Given the description of an element on the screen output the (x, y) to click on. 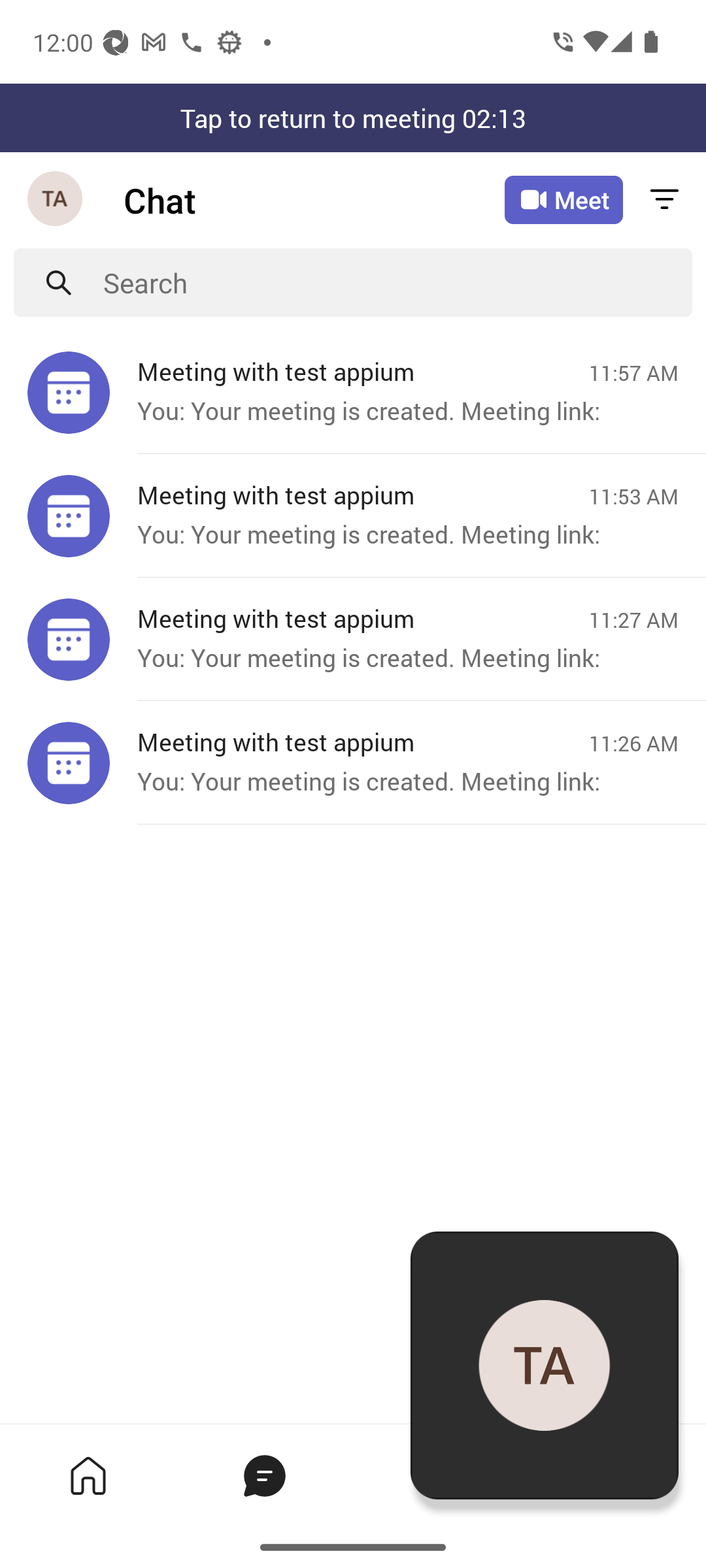
Tap to return to meeting 02:13 (353, 117)
Filter chat messages (664, 199)
Navigation (56, 199)
Meet Meet now or join with an ID (563, 199)
Search (397, 281)
Home tab,1 of 4, not selected (88, 1475)
Chat tab, 2 of 4 (264, 1475)
